Given the description of an element on the screen output the (x, y) to click on. 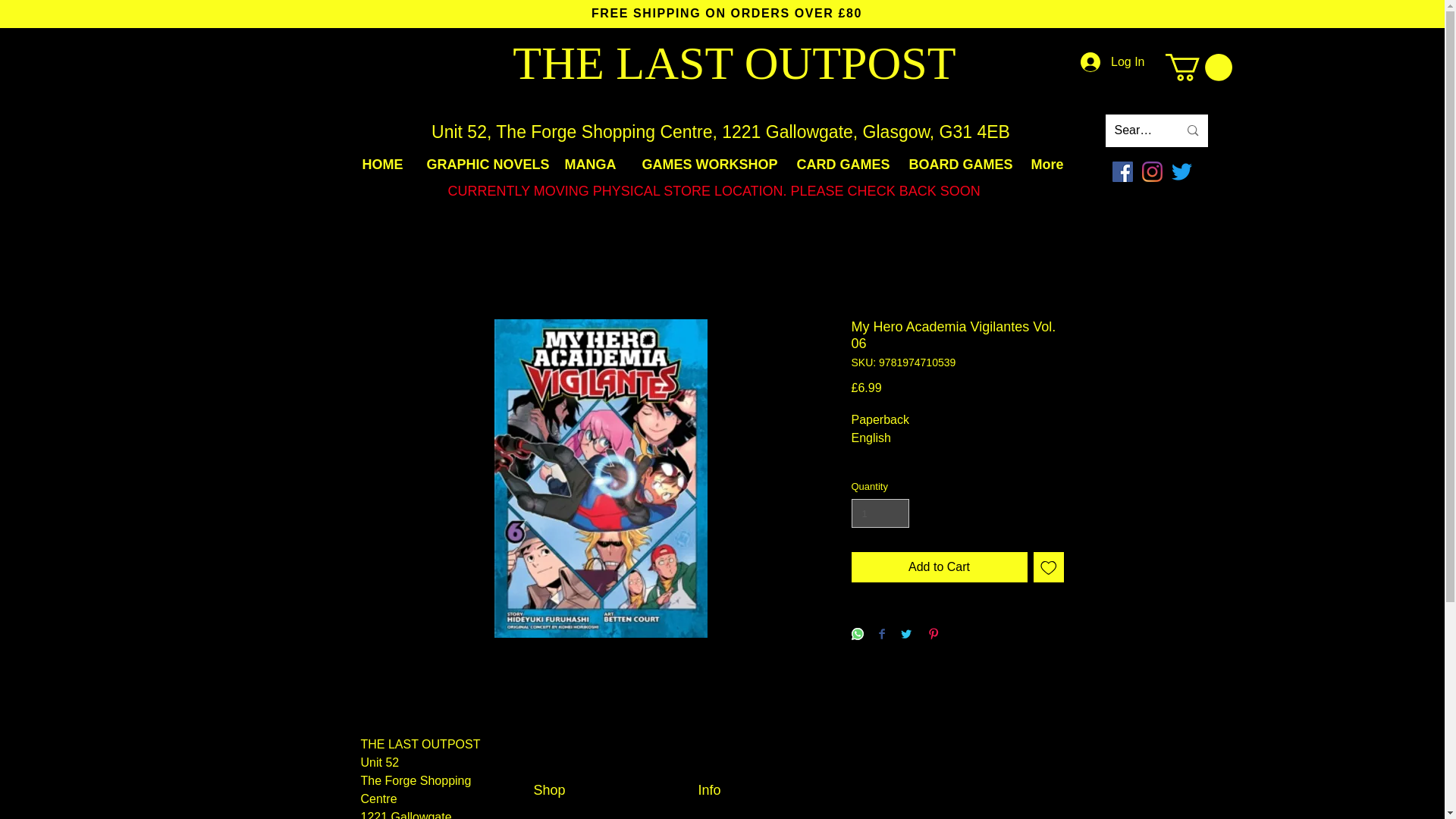
GRAPHIC NOVELS (483, 164)
CARD GAMES (842, 164)
Log In (1112, 61)
THE LAST OUTPOST (733, 62)
BOARD GAMES (959, 164)
GAMES WORKSHOP (708, 164)
FREE SHIPPING ON ORDER (685, 12)
MANGA (591, 164)
1 (879, 512)
HOME (382, 164)
